Given the description of an element on the screen output the (x, y) to click on. 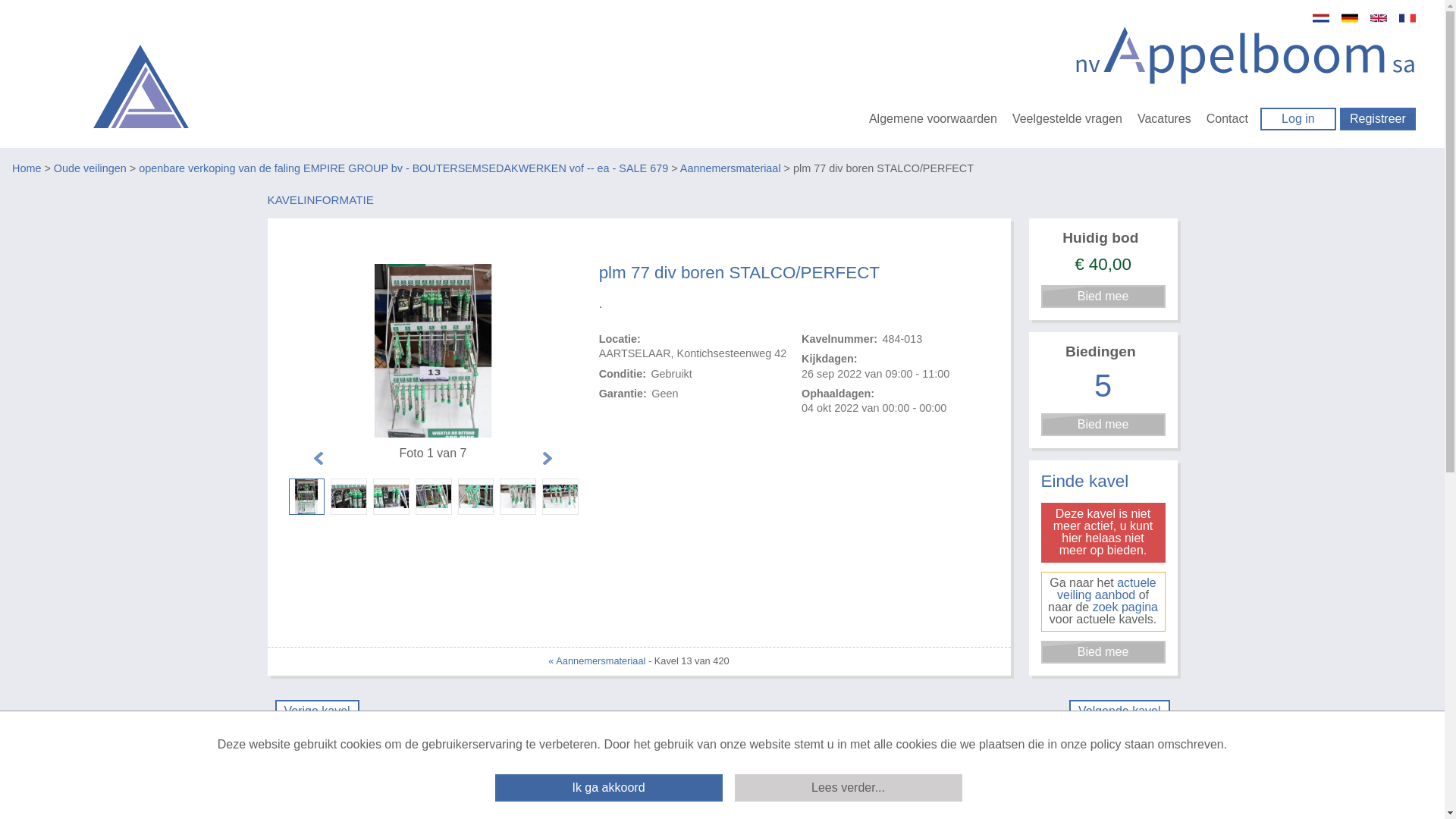
Oude veilingen Element type: text (89, 162)
zoek pagina Element type: text (1124, 606)
Bied mee Element type: text (1102, 296)
English Element type: text (1378, 18)
Vacatures Element type: text (1164, 118)
Aannemersmateriaal Element type: text (730, 162)
Log in Element type: text (1298, 118)
Contact Element type: text (1227, 118)
Deutsch Element type: text (1349, 18)
Veelgestelde vragen Element type: text (1067, 118)
Algemene voorwaarden Element type: text (933, 118)
Bied mee Element type: text (1102, 651)
Nederlands Element type: text (1320, 18)
actuele veiling aanbod Element type: text (1106, 588)
Home Element type: text (26, 162)
Registreer Element type: text (1377, 118)
Volgende kavel Element type: text (1119, 710)
Bied mee Element type: text (1102, 424)
Vorige kavel Element type: text (316, 710)
